Given the description of an element on the screen output the (x, y) to click on. 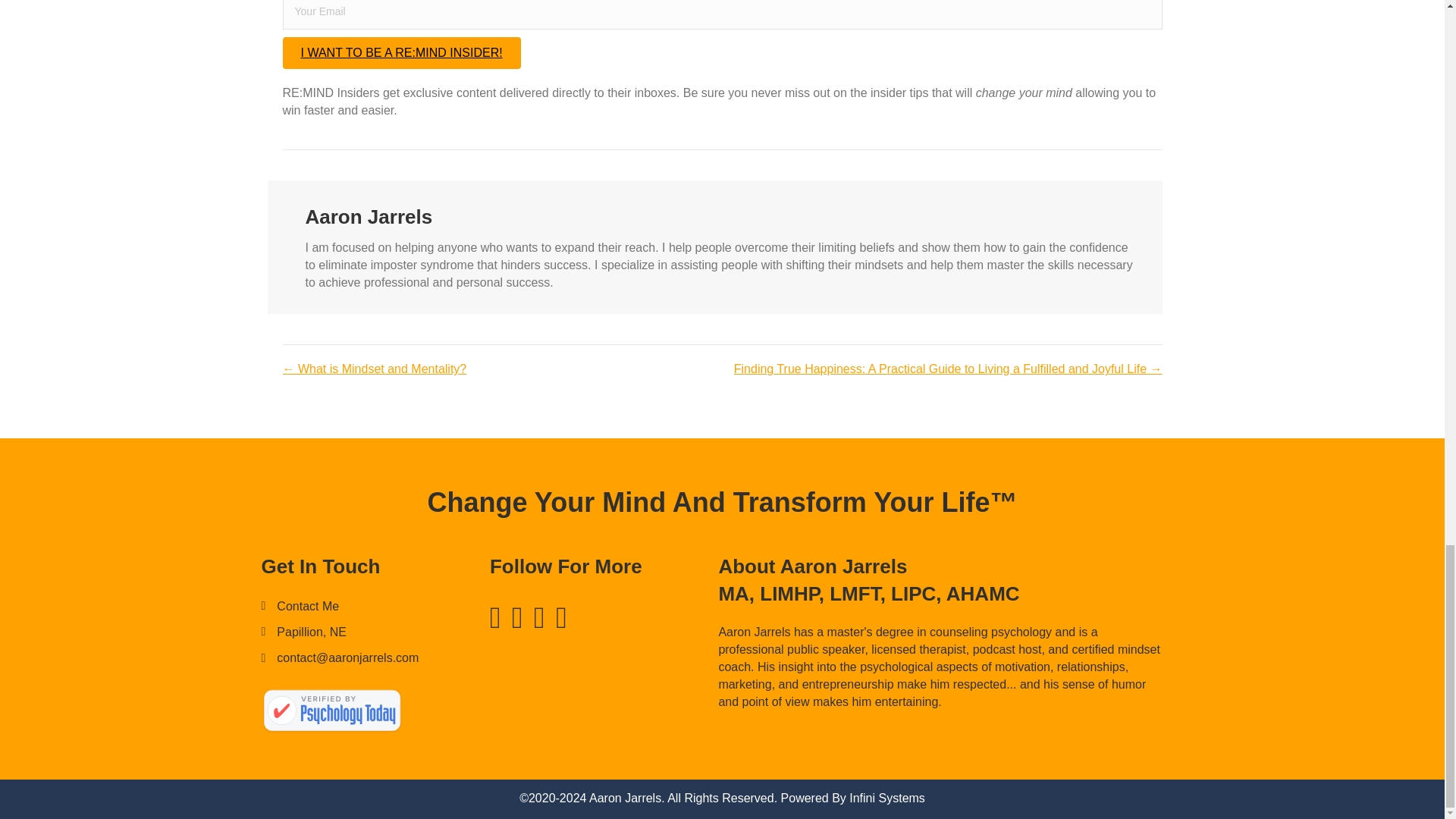
Infini Systems (886, 797)
I WANT TO BE A RE:MIND INSIDER! (400, 52)
Aaron Jarrels (330, 710)
Contact Me (307, 606)
